Given the description of an element on the screen output the (x, y) to click on. 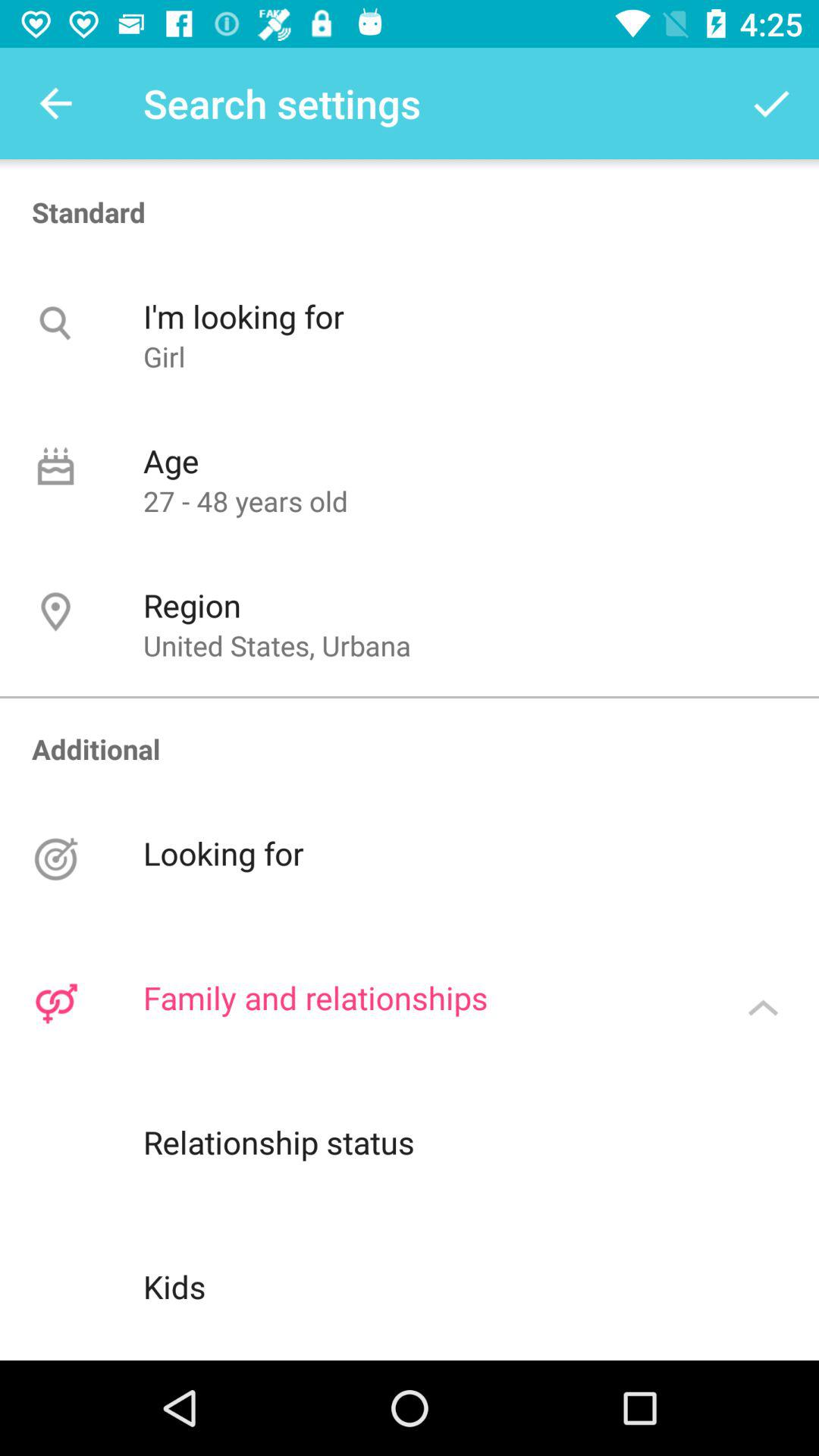
click item at the top right corner (771, 103)
